Given the description of an element on the screen output the (x, y) to click on. 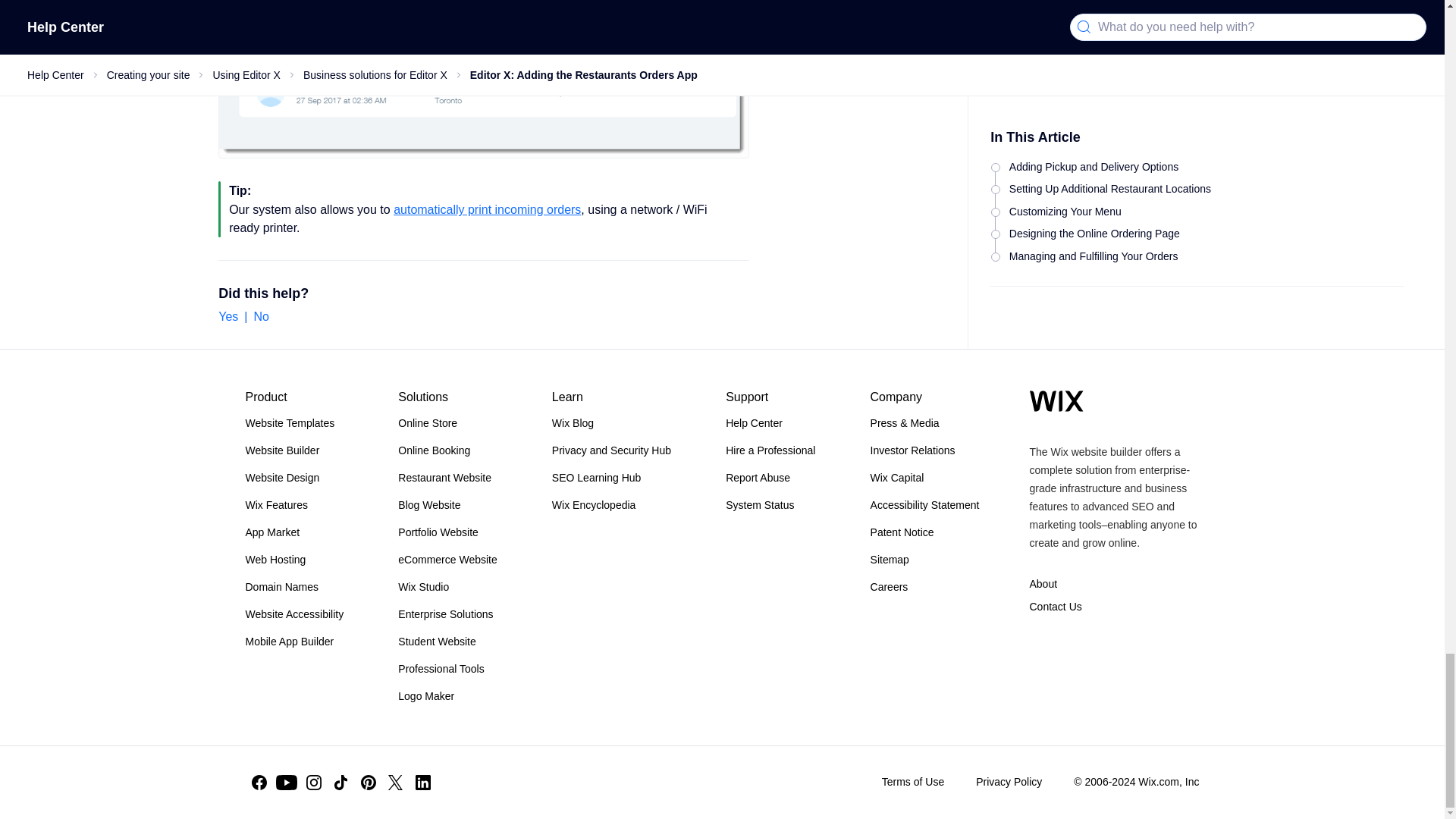
Youtube (286, 782)
Pinterest (368, 782)
Linkedin (422, 782)
Instagram (313, 782)
Wix.com (1056, 400)
Facebook (259, 782)
TikTok (341, 782)
Twitter (395, 782)
